Given the description of an element on the screen output the (x, y) to click on. 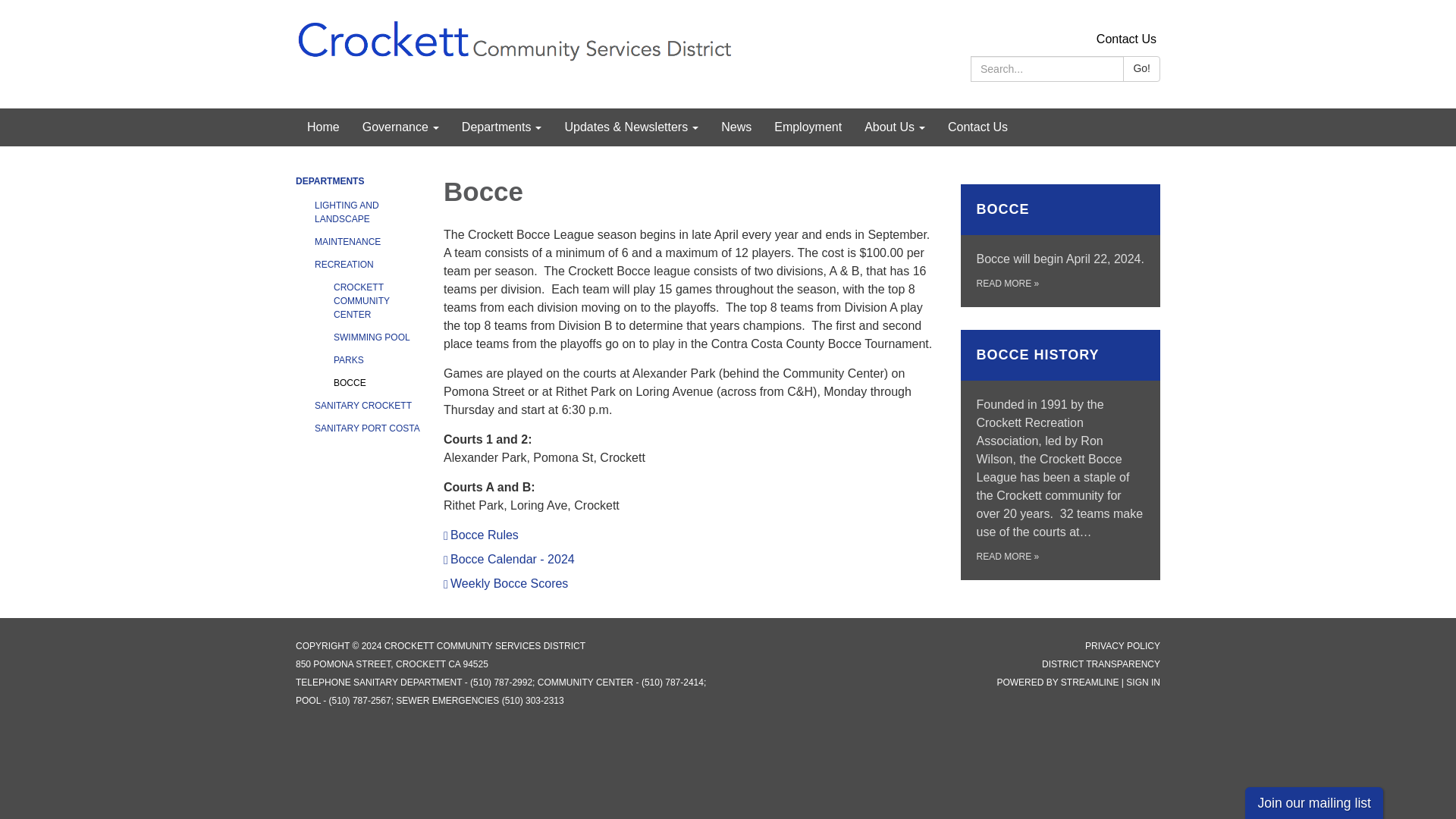
Special District Transparency Report (1101, 664)
Departments (501, 127)
Governance (399, 127)
Streamline: Technology for Special Districts (1090, 682)
Go! (1141, 68)
Home (322, 127)
Contact Us (1125, 38)
